Given the description of an element on the screen output the (x, y) to click on. 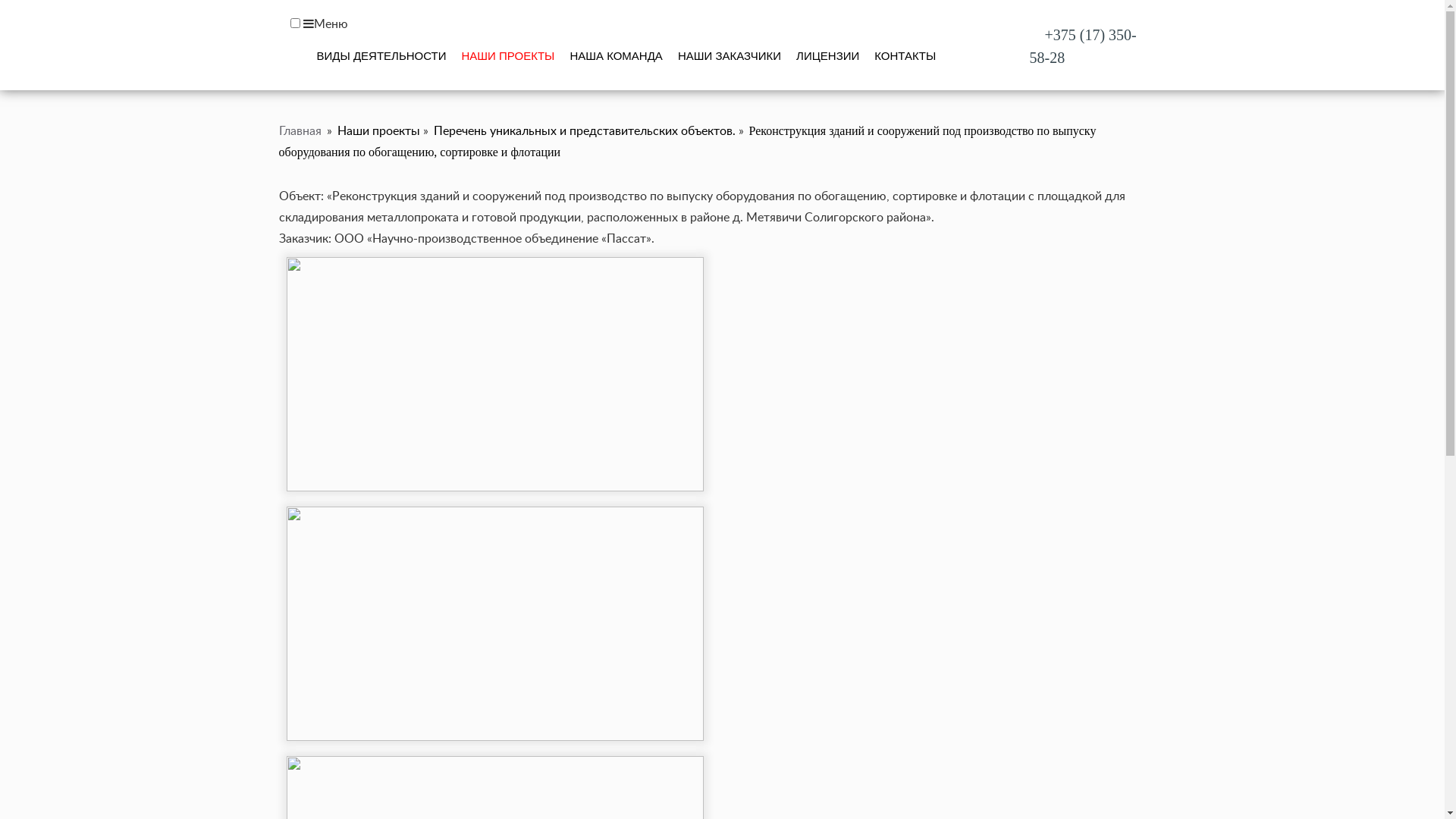
+375 (17) 350-58-28 Element type: text (1082, 45)
